Given the description of an element on the screen output the (x, y) to click on. 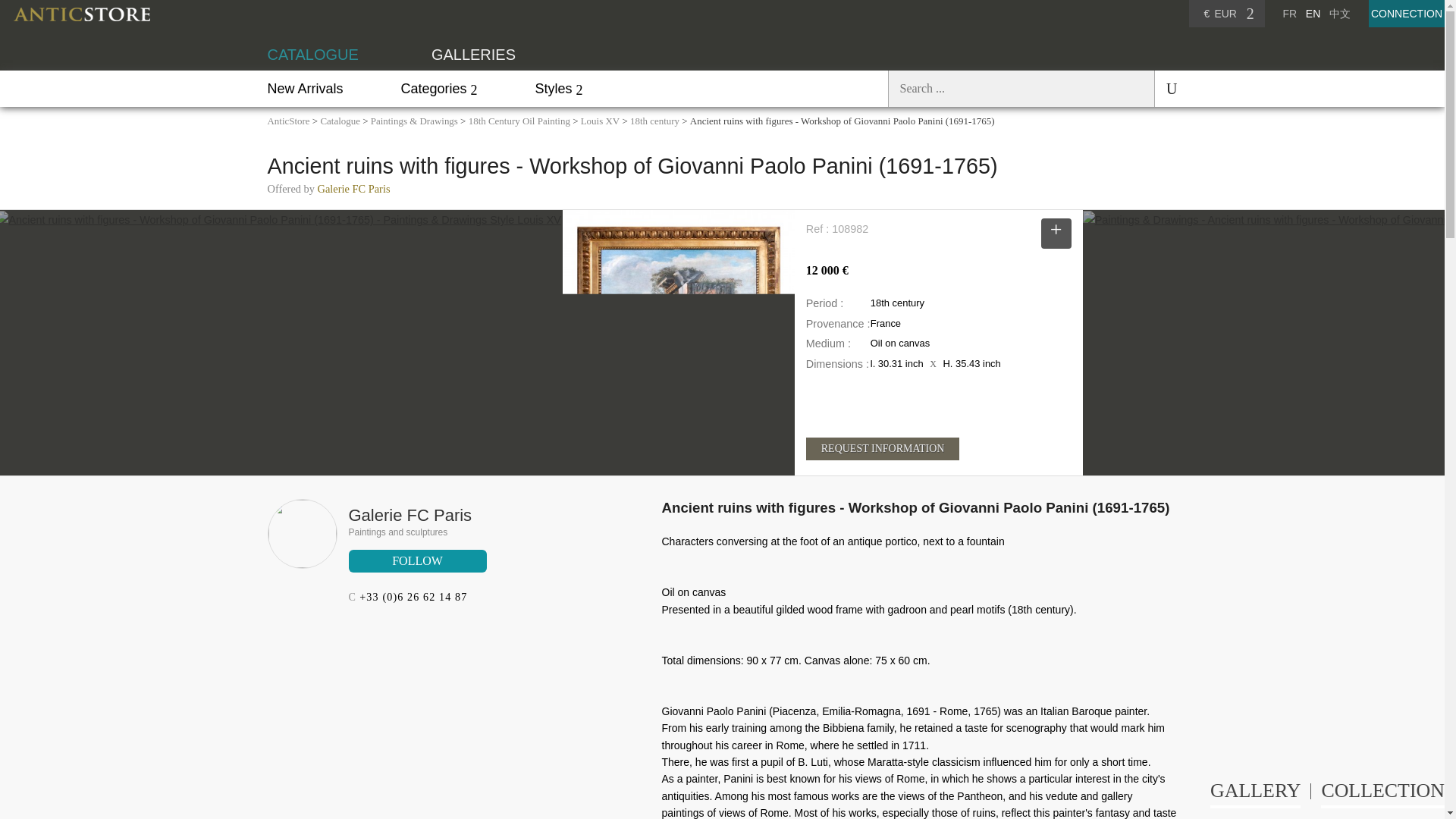
New Arrivals (304, 88)
CATALOGUE (312, 54)
GALLERIES (472, 54)
FR (1289, 13)
